Given the description of an element on the screen output the (x, y) to click on. 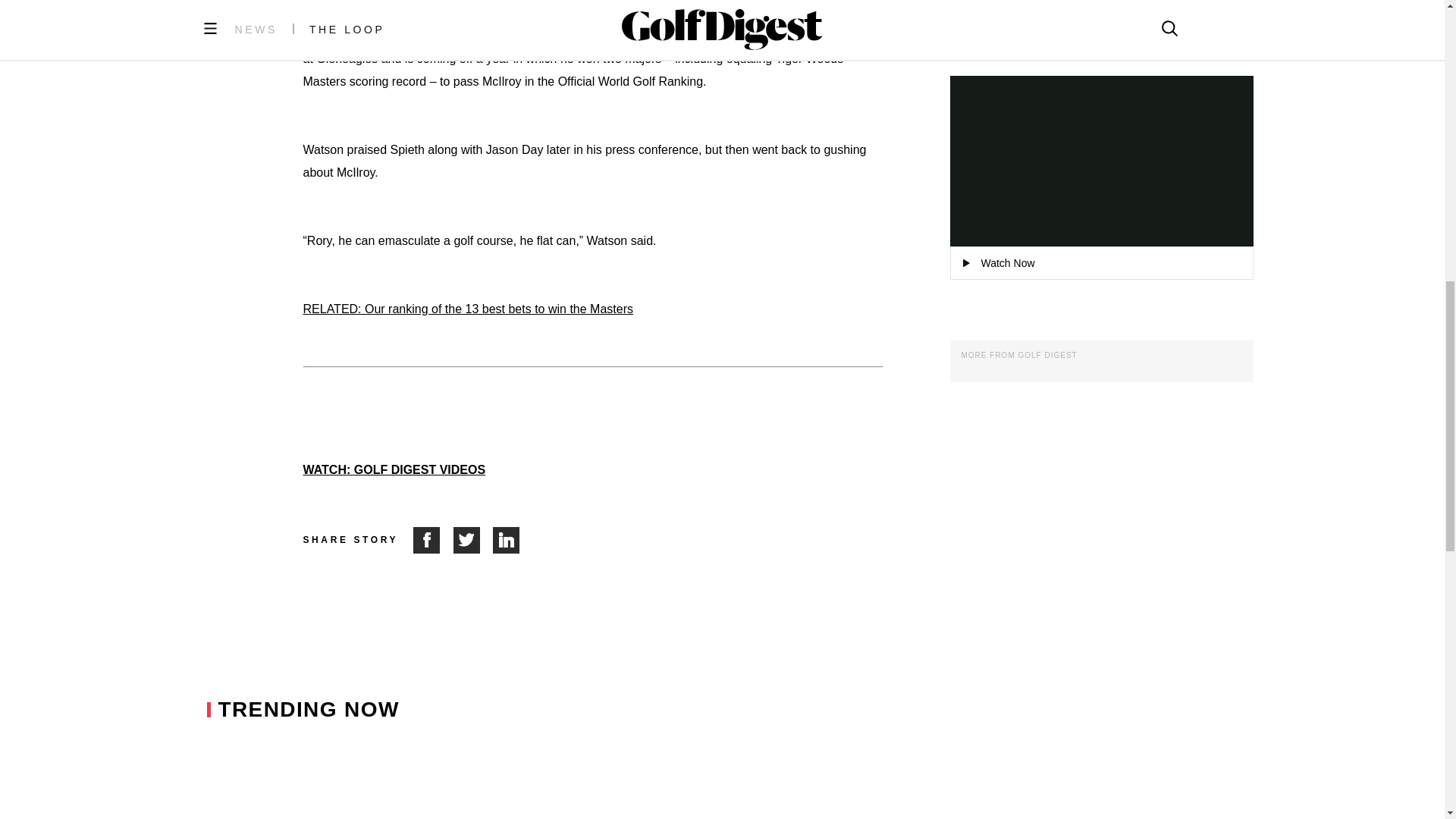
Share on Twitter (472, 540)
Share on LinkedIn (506, 540)
Share on Facebook (432, 540)
